Given the description of an element on the screen output the (x, y) to click on. 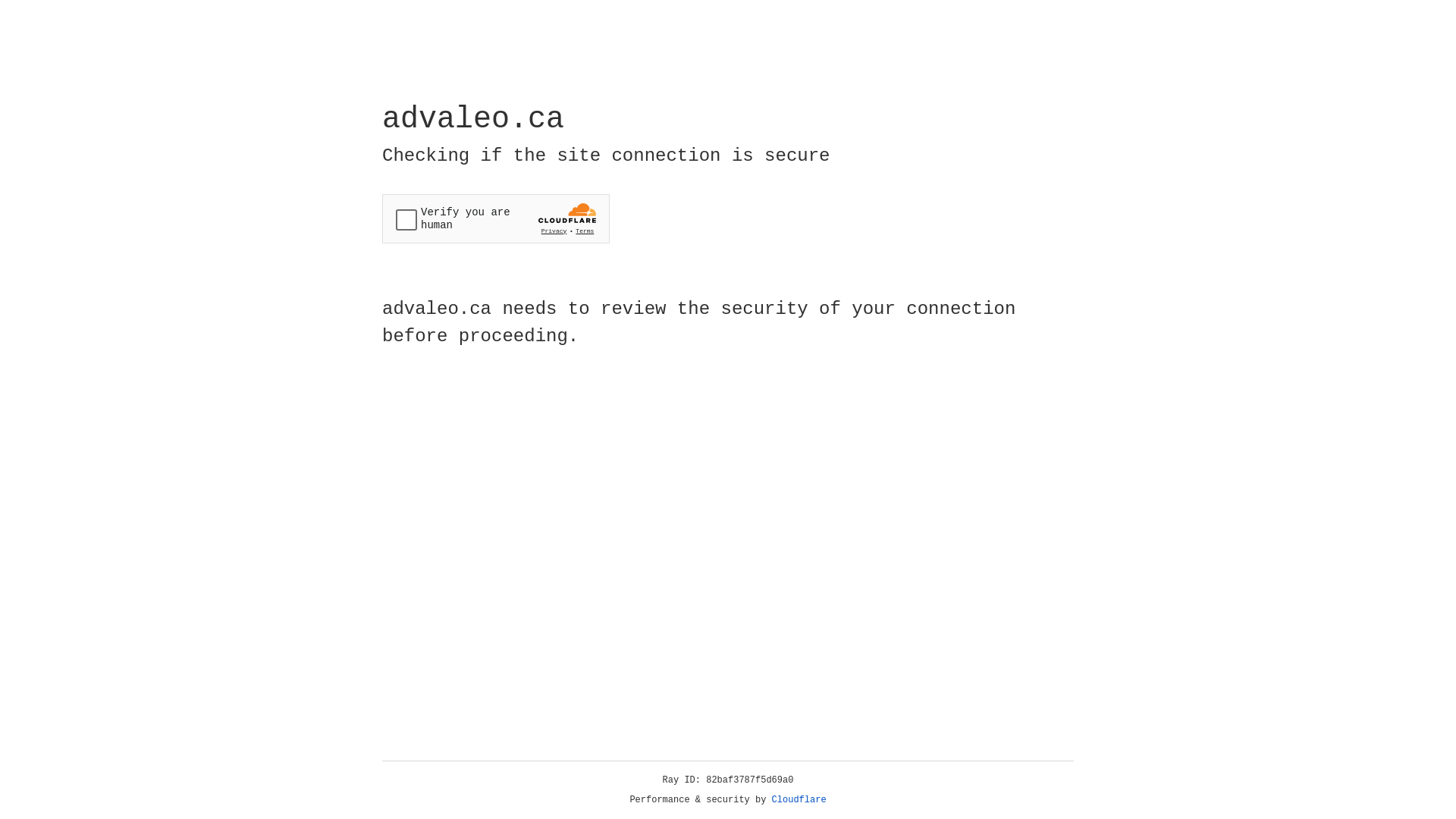
Cloudflare Element type: text (798, 799)
Widget containing a Cloudflare security challenge Element type: hover (495, 218)
